Given the description of an element on the screen output the (x, y) to click on. 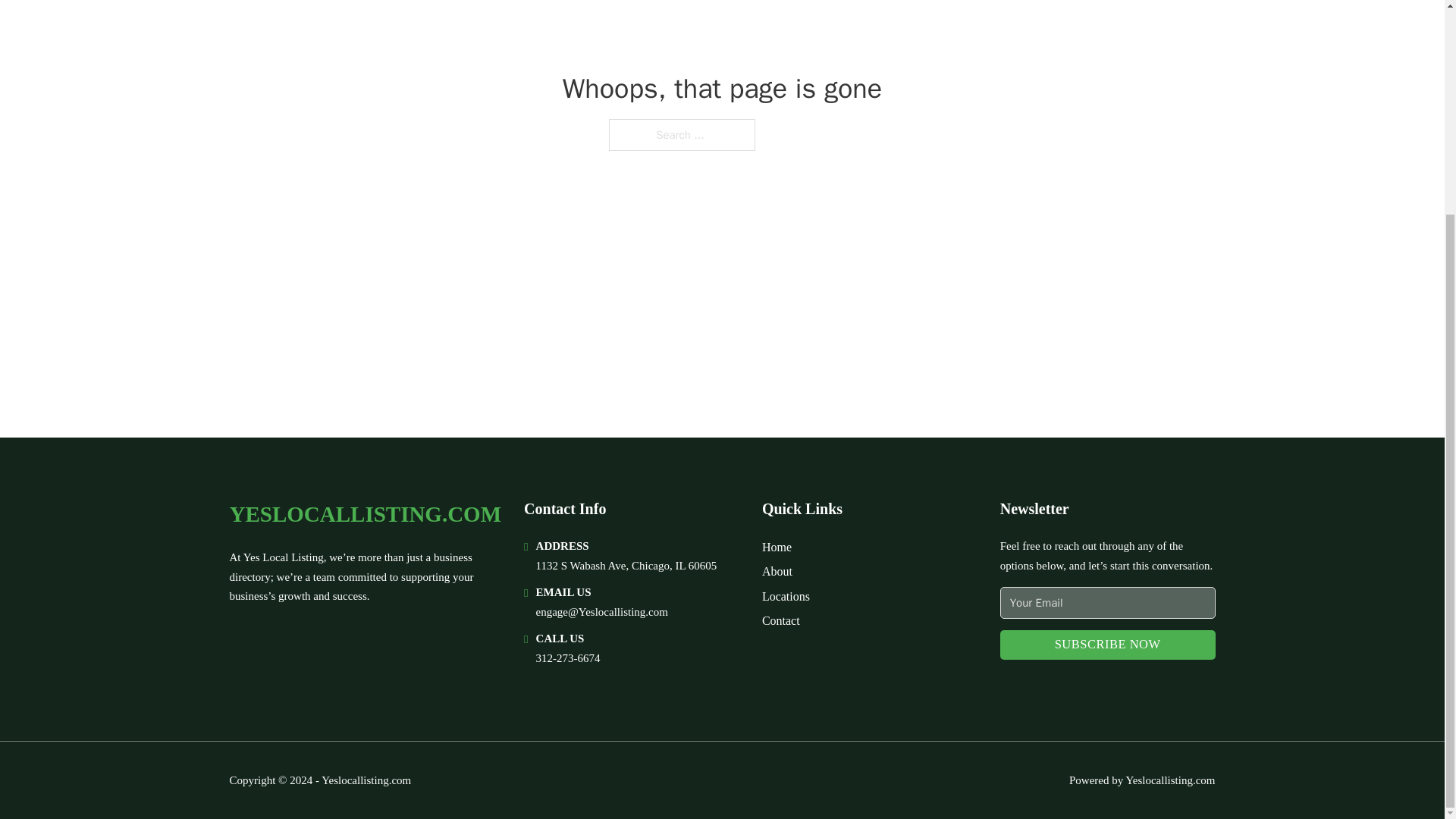
SUBSCRIBE NOW (1107, 644)
Home (776, 547)
Contact (780, 620)
Locations (785, 596)
YESLOCALLISTING.COM (364, 514)
About (776, 571)
312-273-6674 (567, 657)
